Given the description of an element on the screen output the (x, y) to click on. 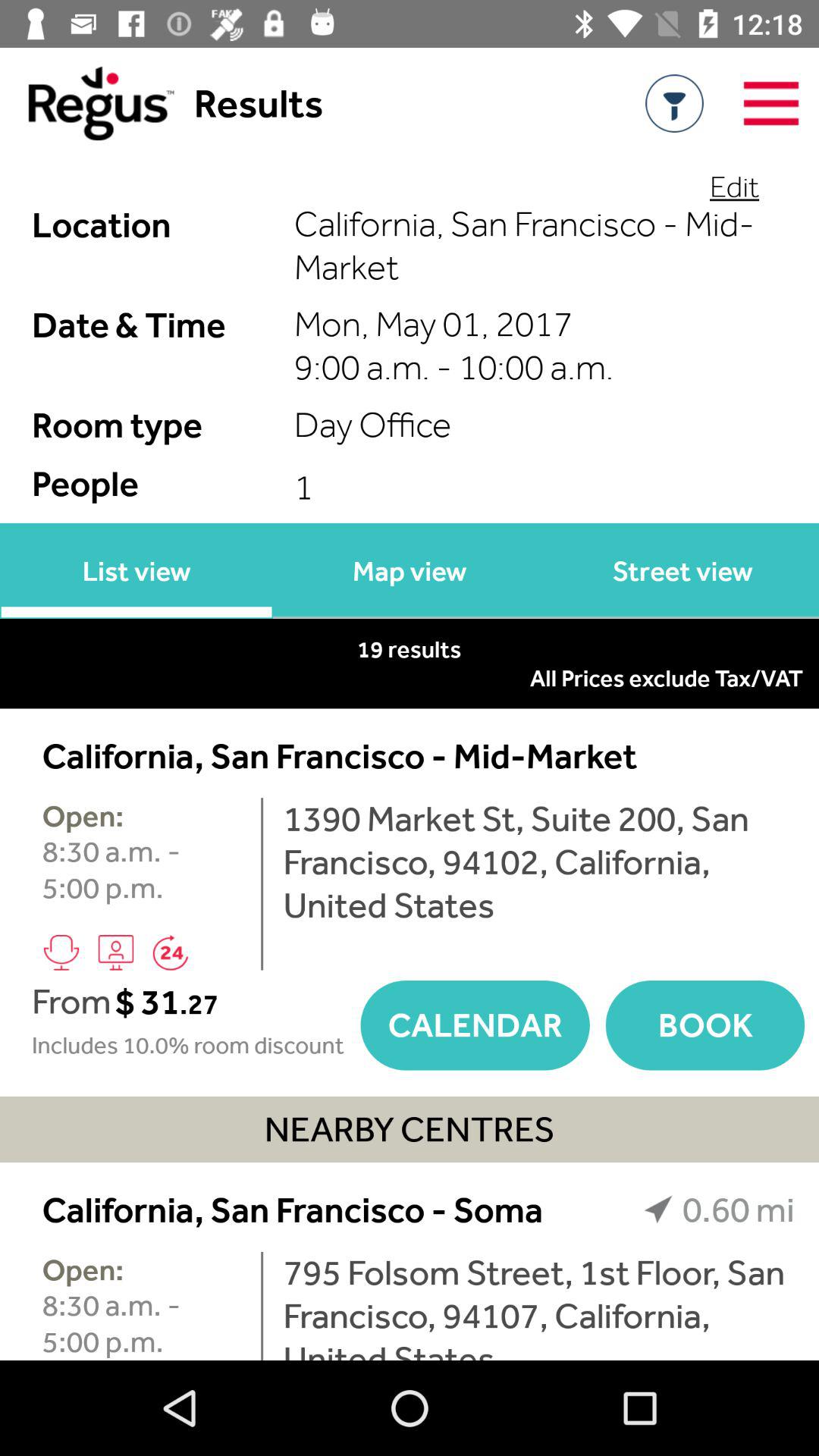
open calendar item (474, 1025)
